Given the description of an element on the screen output the (x, y) to click on. 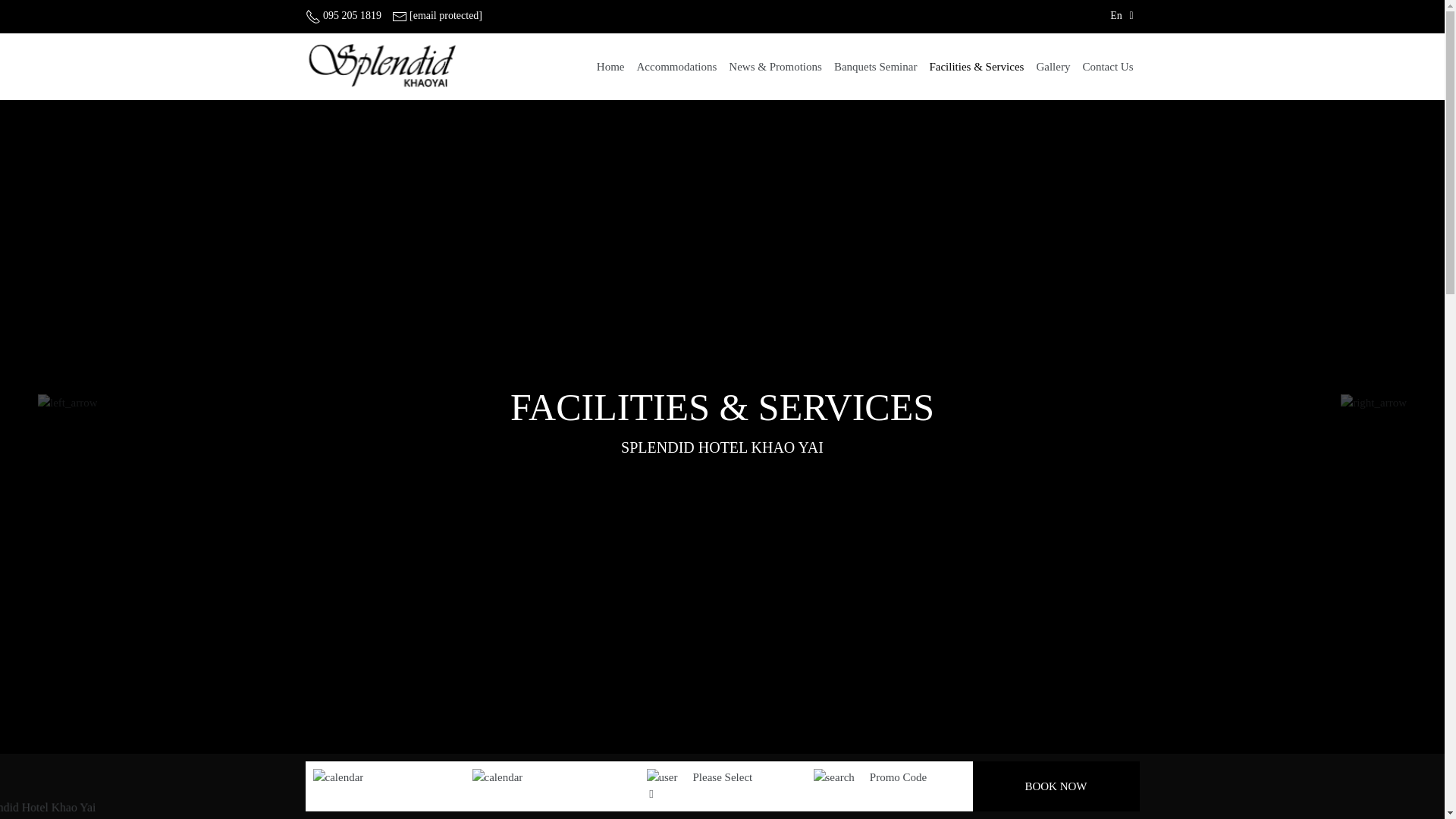
Banquets Seminar (875, 66)
Book Now (1055, 786)
Accommodations (677, 66)
095 205 1819 (342, 15)
